Given the description of an element on the screen output the (x, y) to click on. 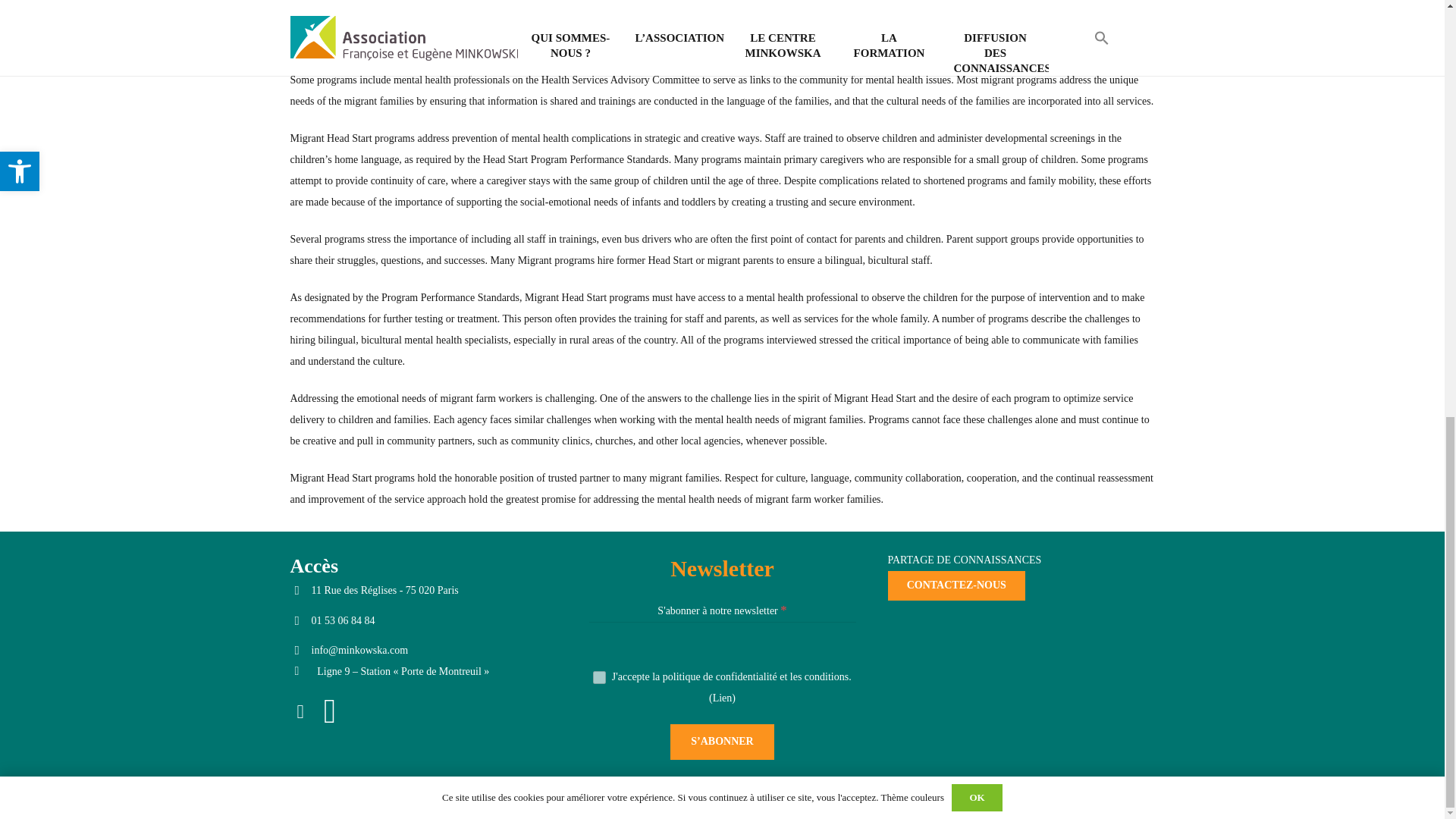
Lien (722, 697)
1 (598, 676)
PARTAGE DE CONNAISSANCES (963, 559)
